Given the description of an element on the screen output the (x, y) to click on. 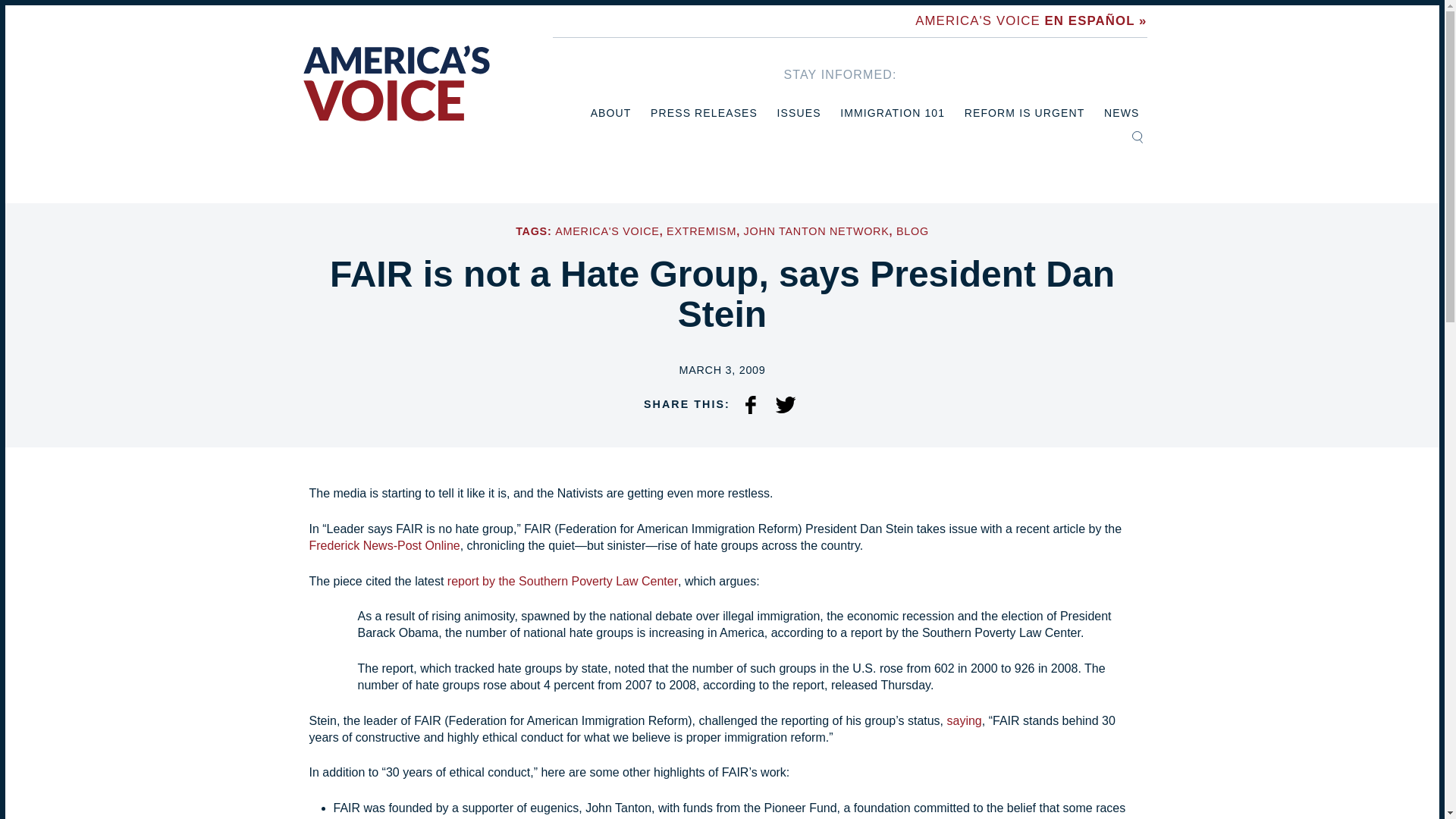
saying (964, 720)
Frederick News-Post Online (384, 545)
PRESS RELEASES (703, 112)
ISSUES (799, 112)
AMERICA'S VOICE (606, 231)
NEWS (1120, 112)
IMMIGRATION 101 (892, 112)
report by the Southern Poverty Law Center (562, 581)
BLOG (912, 231)
Show Search (1137, 135)
EXTREMISM (701, 231)
JOHN TANTON NETWORK (816, 231)
ABOUT (611, 112)
REFORM IS URGENT (1023, 112)
